Given the description of an element on the screen output the (x, y) to click on. 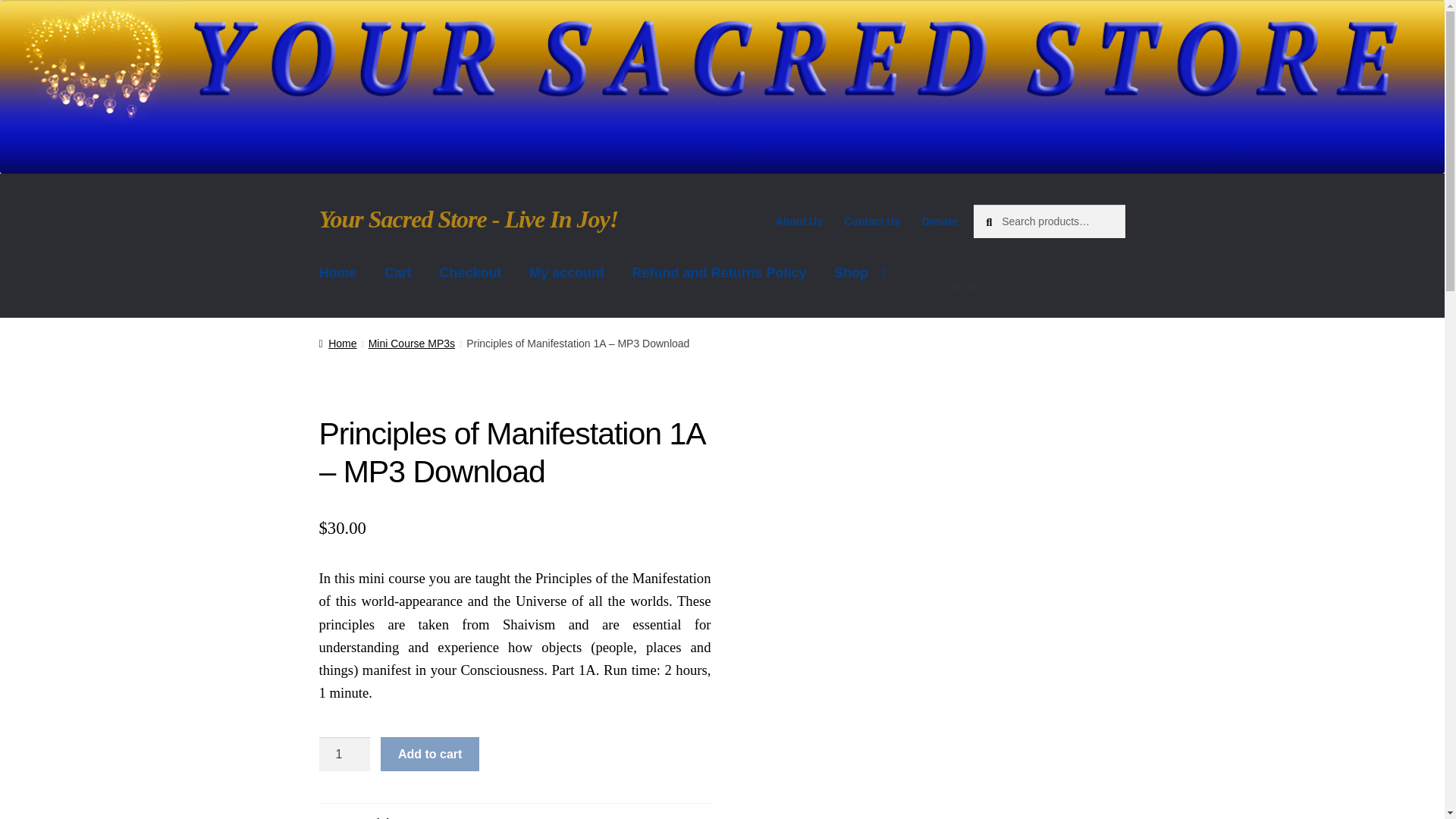
View your shopping cart (1037, 286)
Cart (397, 273)
Shop (860, 273)
My account (565, 273)
Home (338, 273)
Your Sacred Store - Live In Joy! (468, 218)
Contact Us (871, 221)
Checkout (469, 273)
Refund and Returns Policy (719, 273)
